Given the description of an element on the screen output the (x, y) to click on. 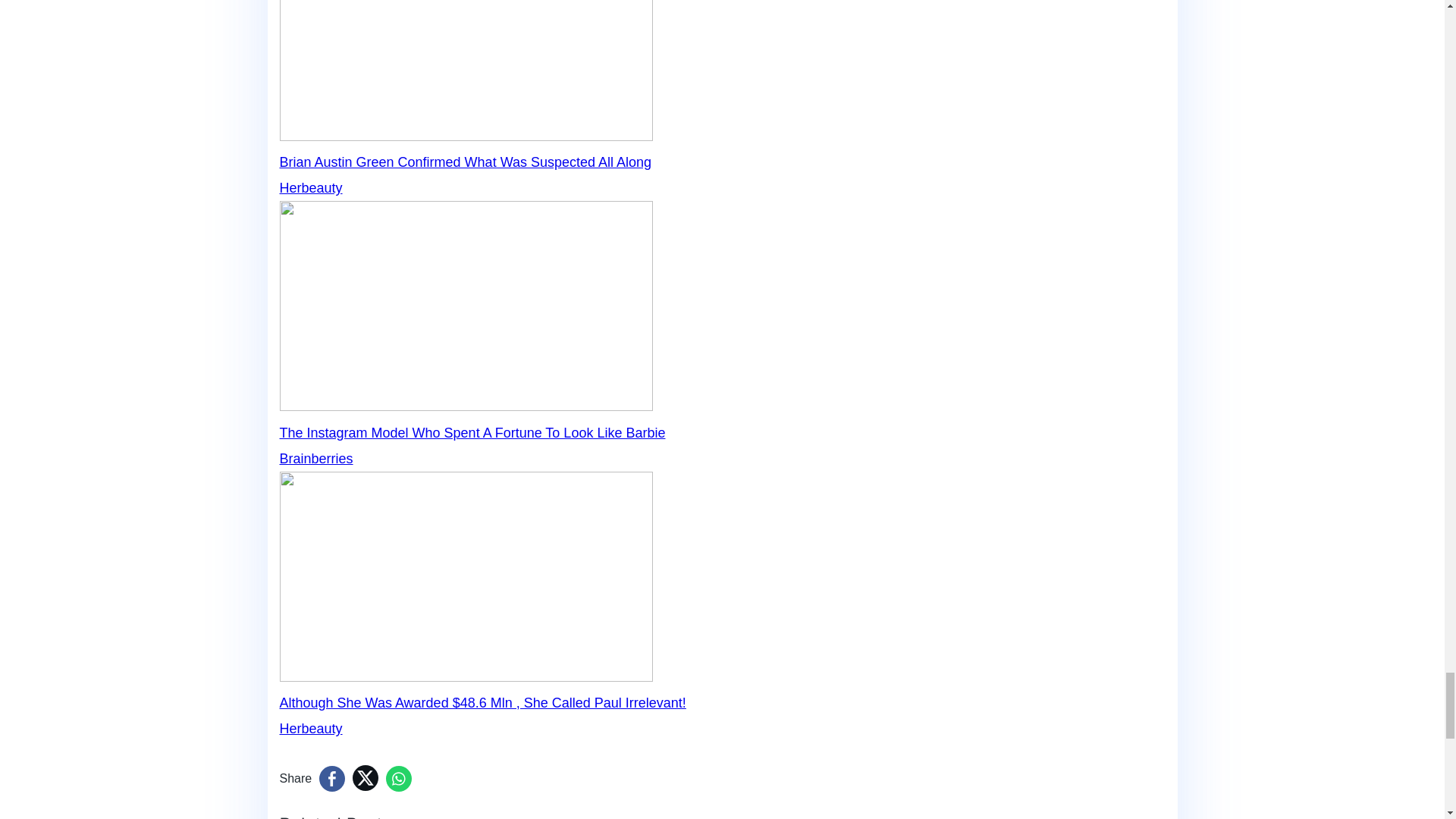
WhatsApp (398, 778)
Share  facebook (331, 778)
Share  twitter (365, 777)
